Given the description of an element on the screen output the (x, y) to click on. 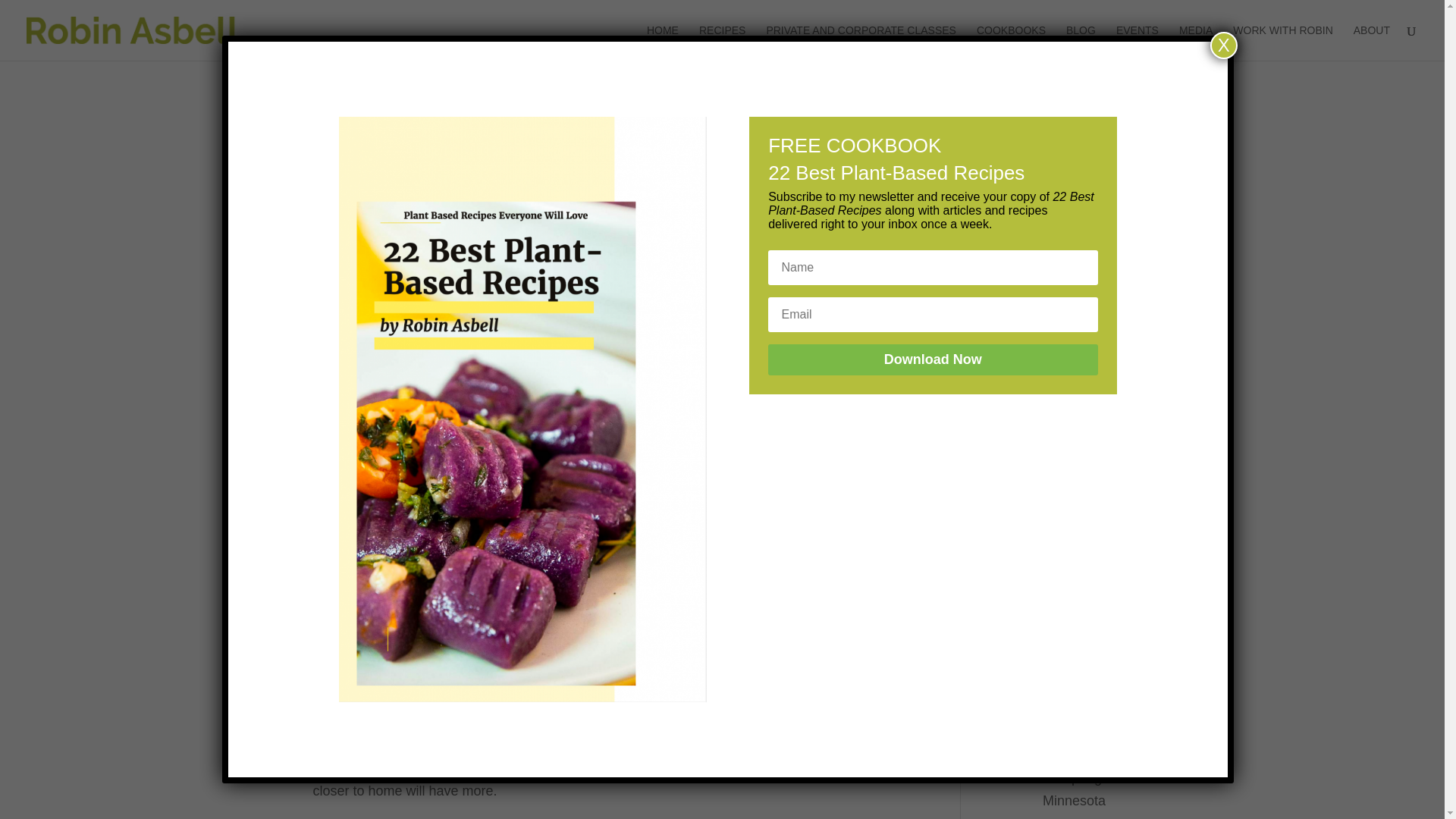
RECIPES (721, 42)
COOKBOOKS (1010, 42)
WORK WITH ROBIN (1282, 42)
ABOUT (1372, 42)
EVENTS (1137, 42)
Whole Grains for Spring on Minnesota Live (1083, 782)
Posts by Robin Asbell (367, 173)
spinach-leaves (430, 322)
May (1043, 631)
VEGAN (507, 173)
